Given the description of an element on the screen output the (x, y) to click on. 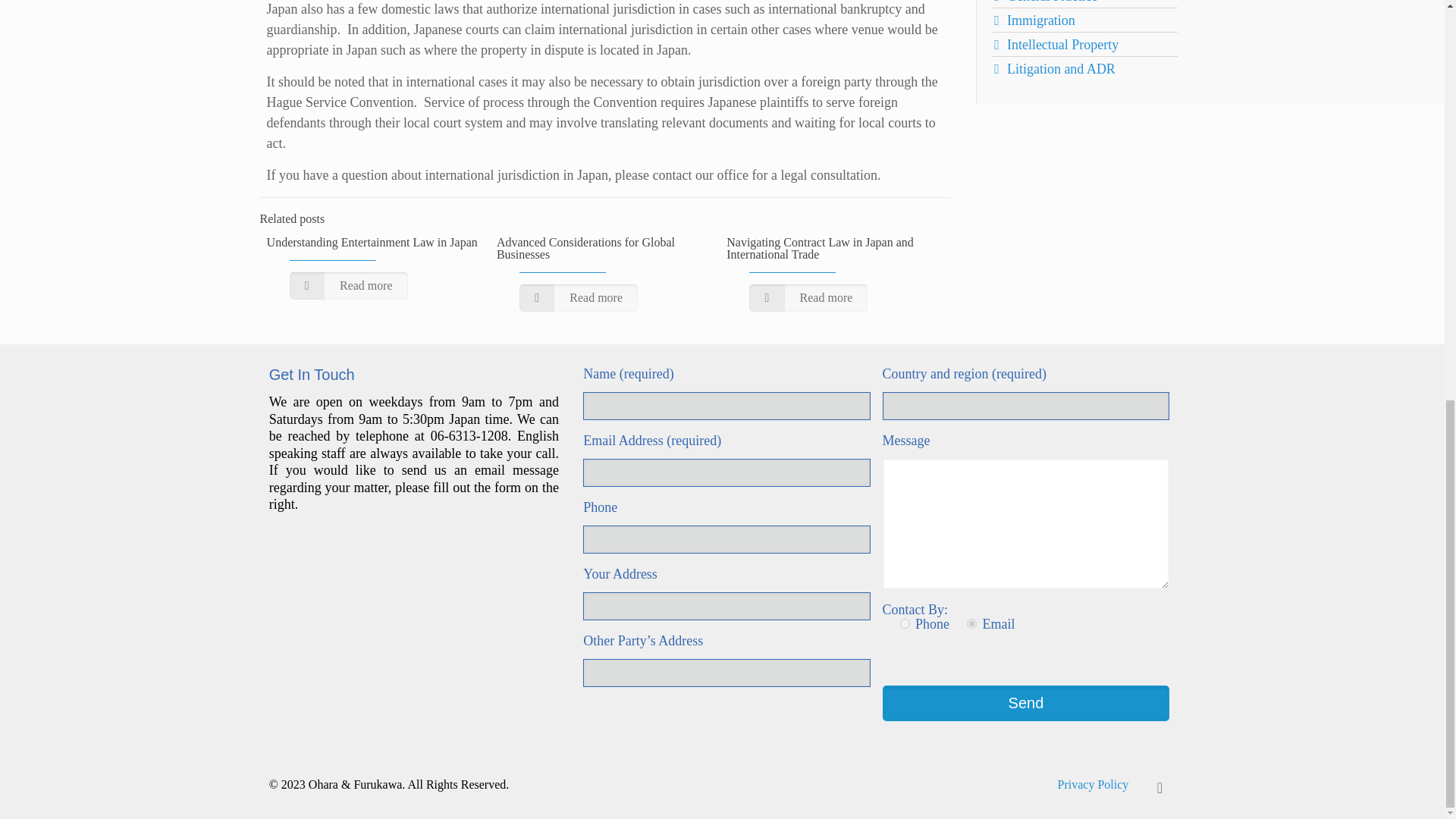
Phone (904, 623)
Email (971, 623)
Send (1026, 703)
